Given the description of an element on the screen output the (x, y) to click on. 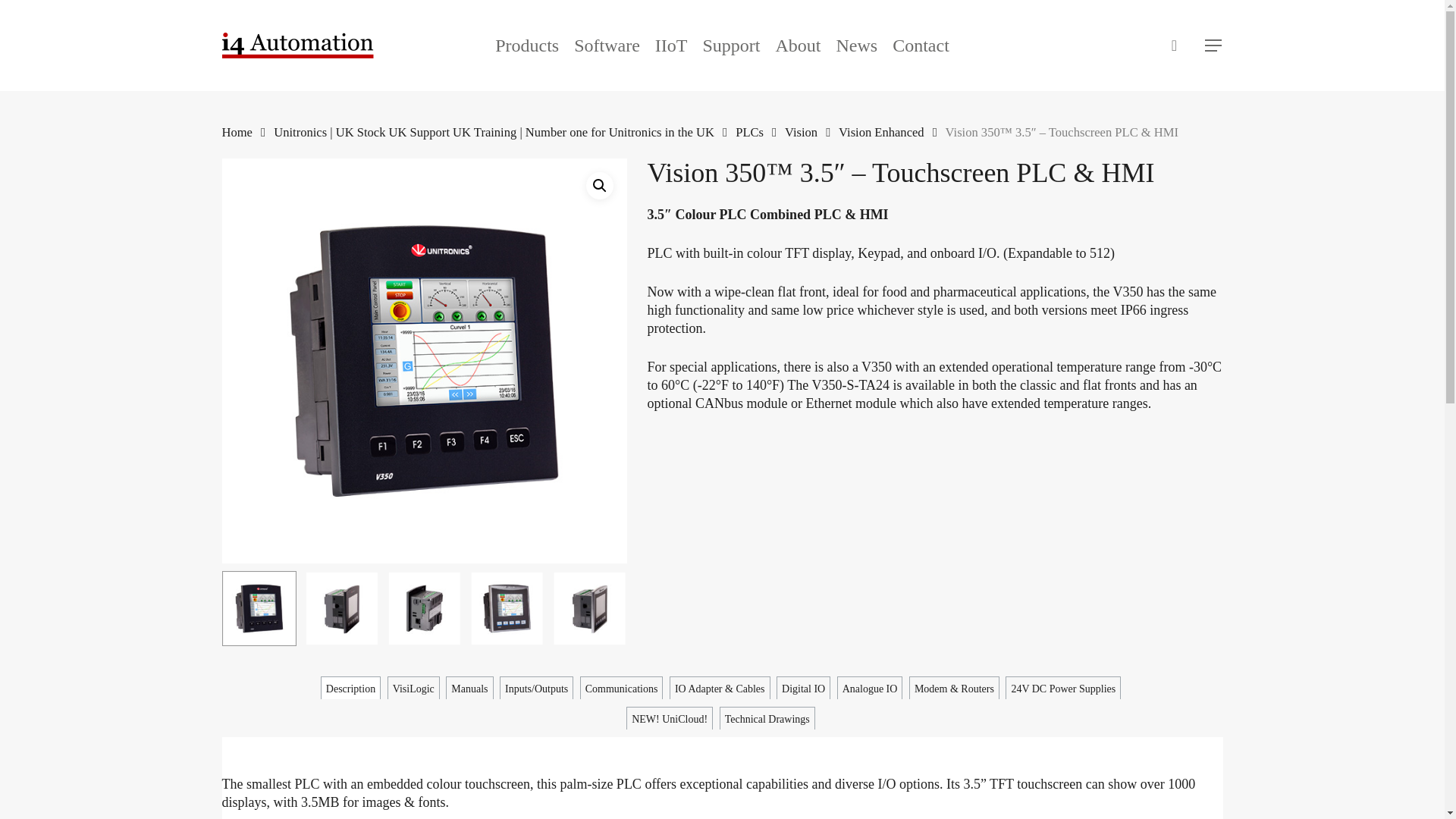
Products (526, 45)
Software (606, 45)
